Given the description of an element on the screen output the (x, y) to click on. 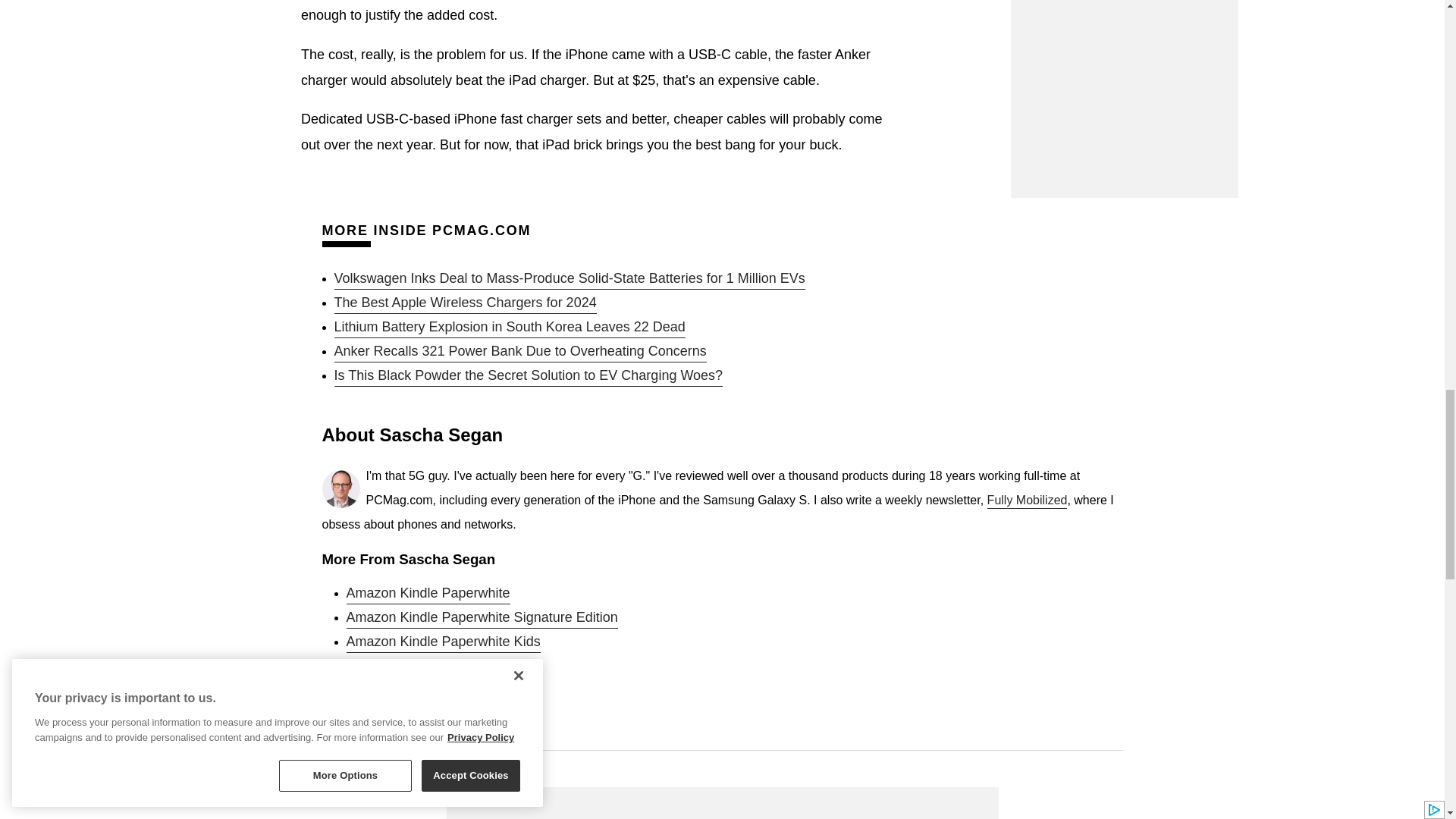
3rd party ad content (721, 803)
